Given the description of an element on the screen output the (x, y) to click on. 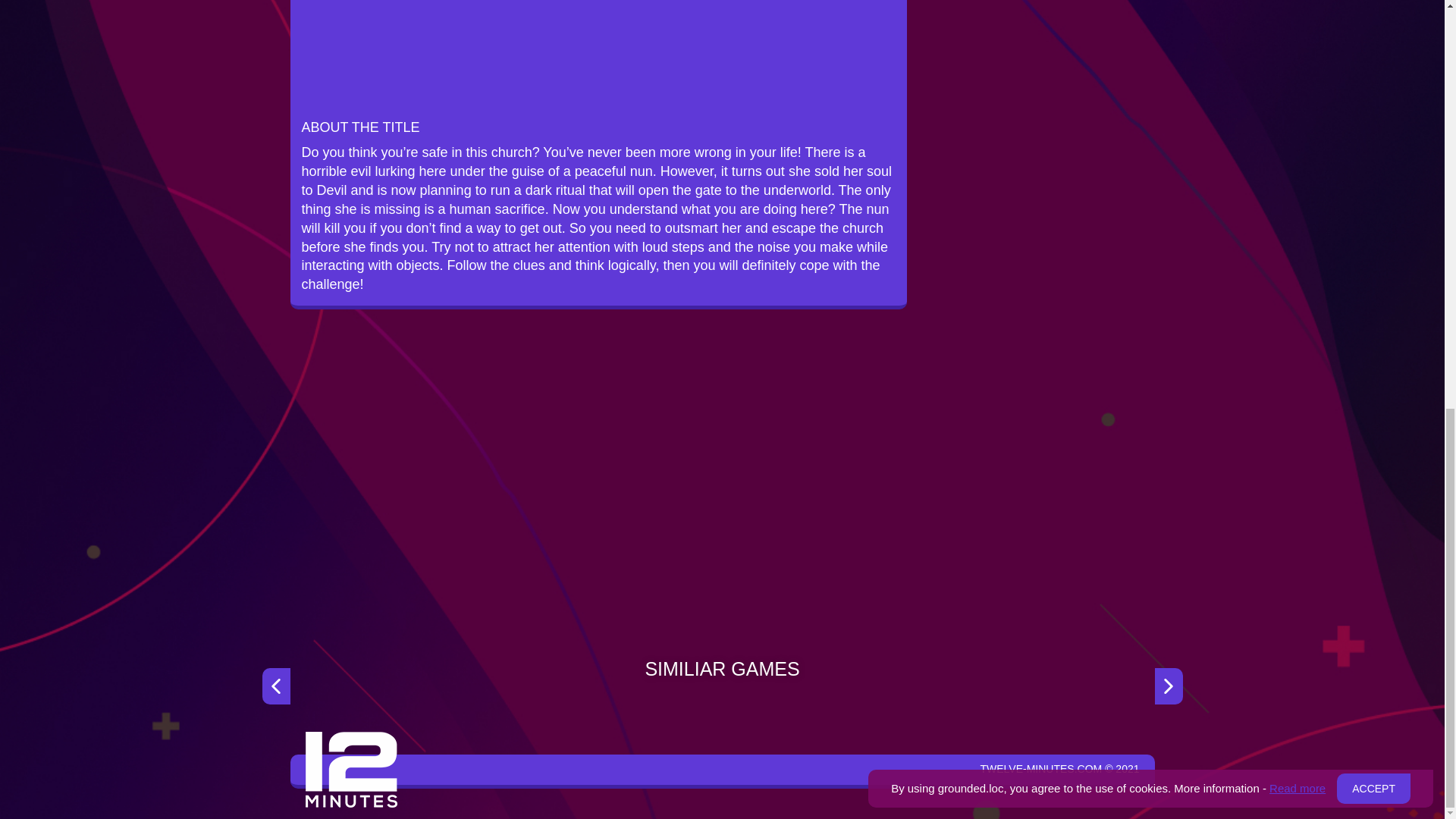
Advertisement (722, 502)
